Given the description of an element on the screen output the (x, y) to click on. 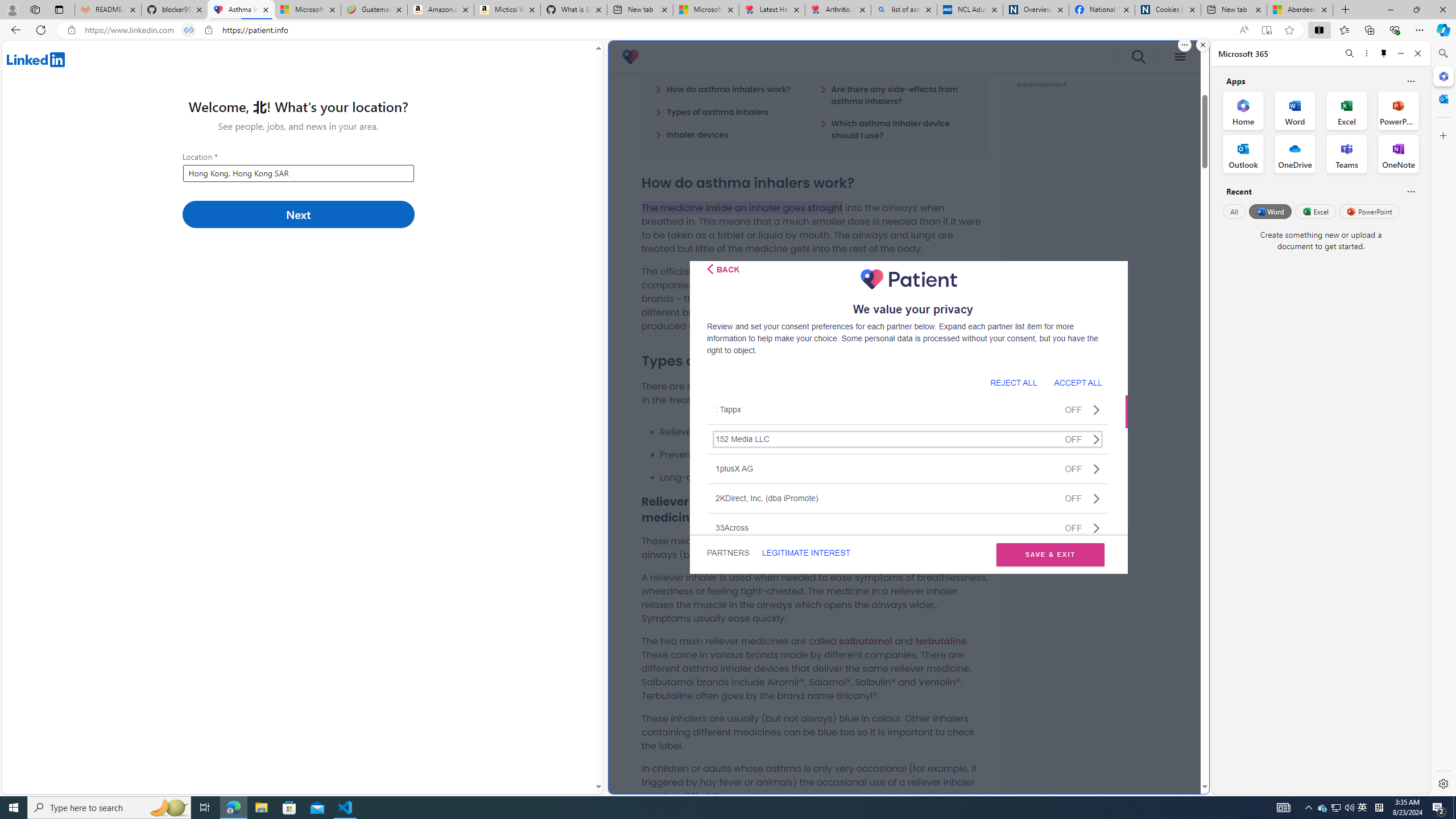
Refresh (40, 29)
Is this helpful? (1410, 191)
Cookies | About | NICE (1167, 9)
OneDrive Office App (1295, 154)
Aberdeen, Hong Kong SAR hourly forecast | Microsoft Weather (1300, 9)
NCL Adult Asthma Inhaler Choice Guideline (969, 9)
All (1233, 210)
PARTNERS (728, 552)
View site information (208, 29)
Address and search bar (658, 29)
Microsoft-Report a Concern to Bing (307, 9)
New tab (1233, 9)
Minimize (1401, 53)
ACCEPT ALL (1078, 382)
